Given the description of an element on the screen output the (x, y) to click on. 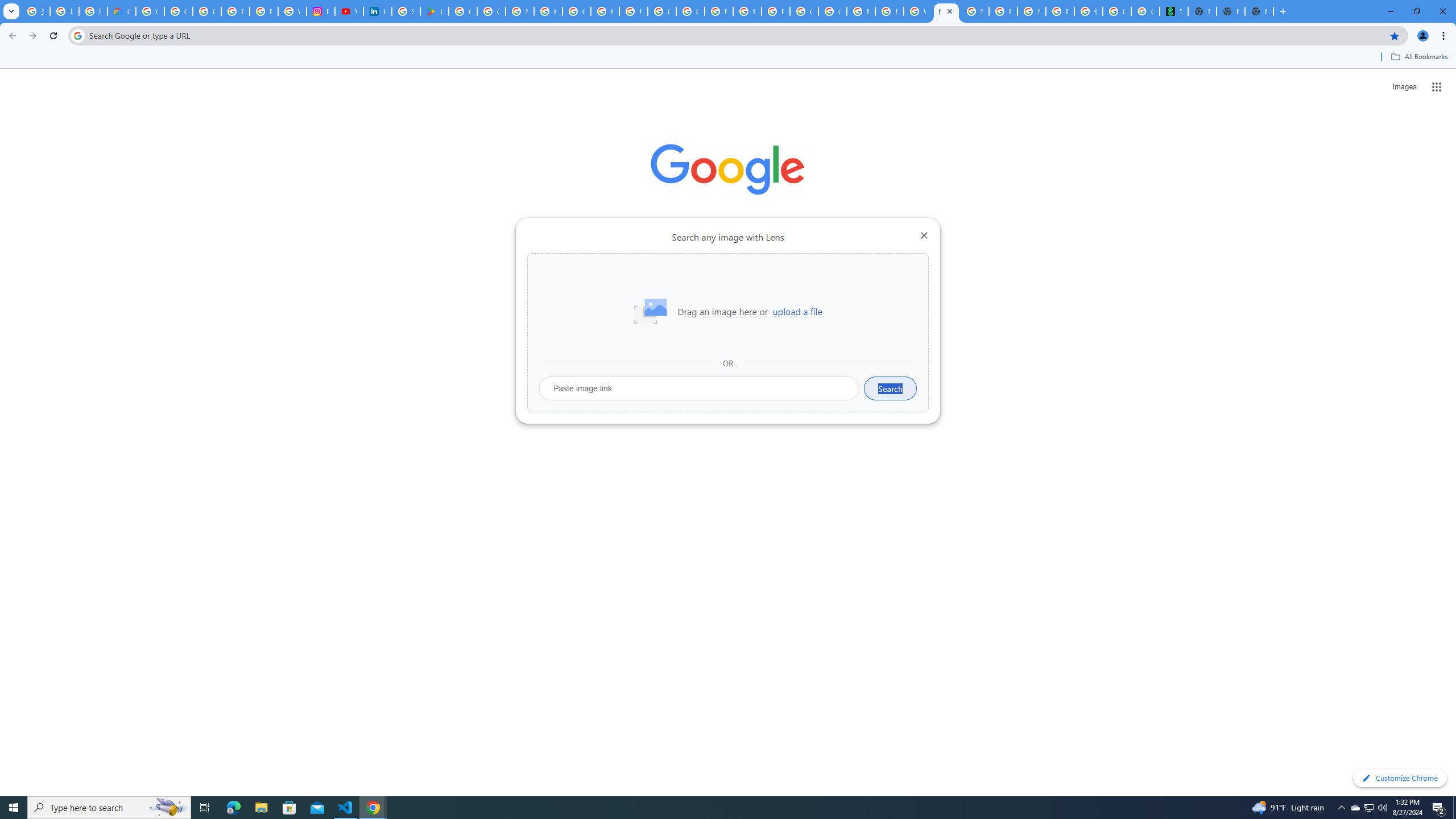
Browse Chrome as a guest - Computer - Google Chrome Help (718, 11)
Browse Chrome as a guest - Computer - Google Chrome Help (747, 11)
How do I create a new Google Account? - Google Account Help (604, 11)
Browse Chrome as a guest - Computer - Google Chrome Help (889, 11)
Sign in - Google Accounts (406, 11)
Google Cloud Platform (804, 11)
